Given the description of an element on the screen output the (x, y) to click on. 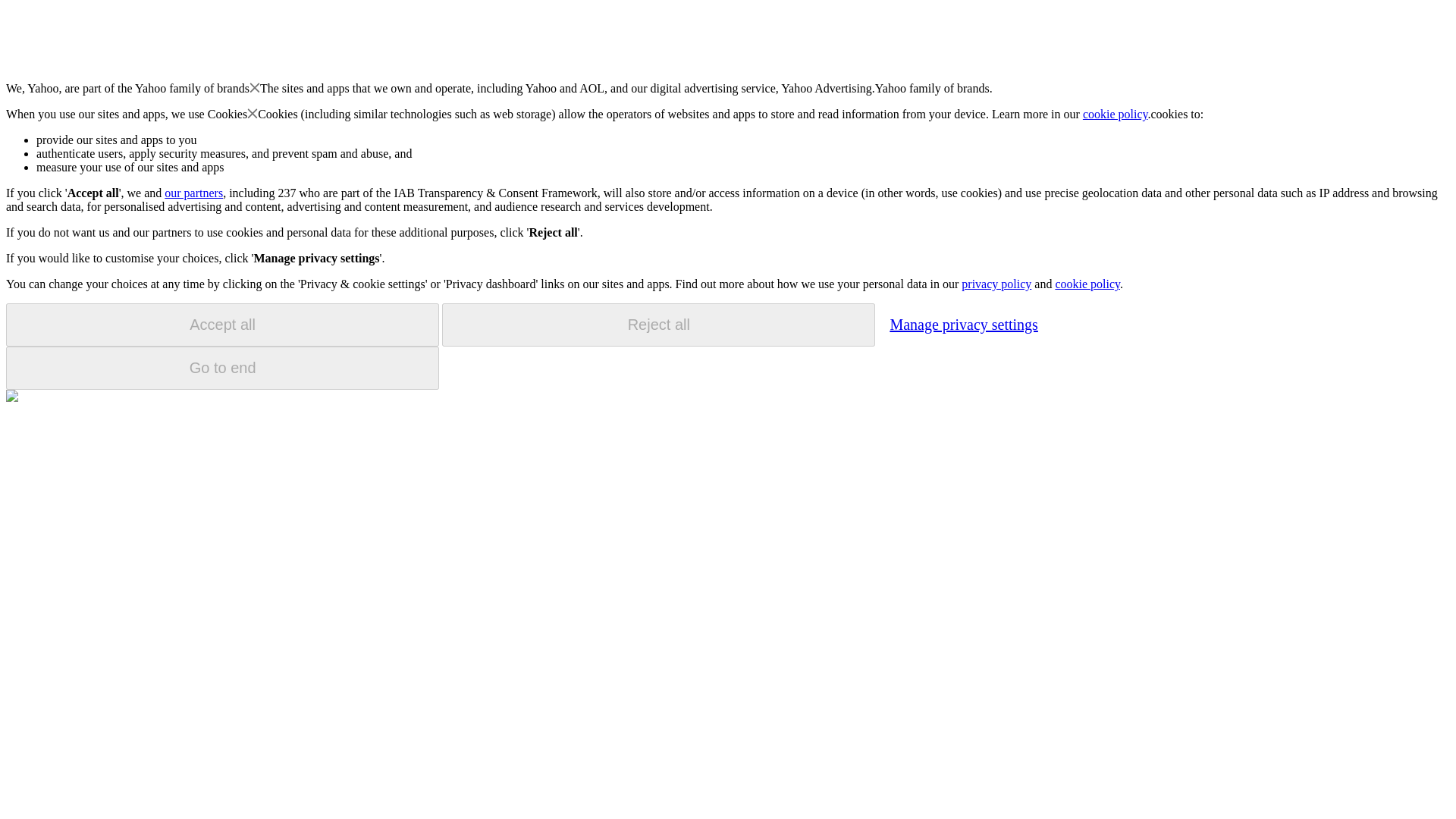
Accept all (222, 324)
Reject all (658, 324)
Manage privacy settings (963, 323)
our partners (193, 192)
Go to end (222, 367)
privacy policy (995, 283)
cookie policy (1115, 113)
cookie policy (1086, 283)
